Given the description of an element on the screen output the (x, y) to click on. 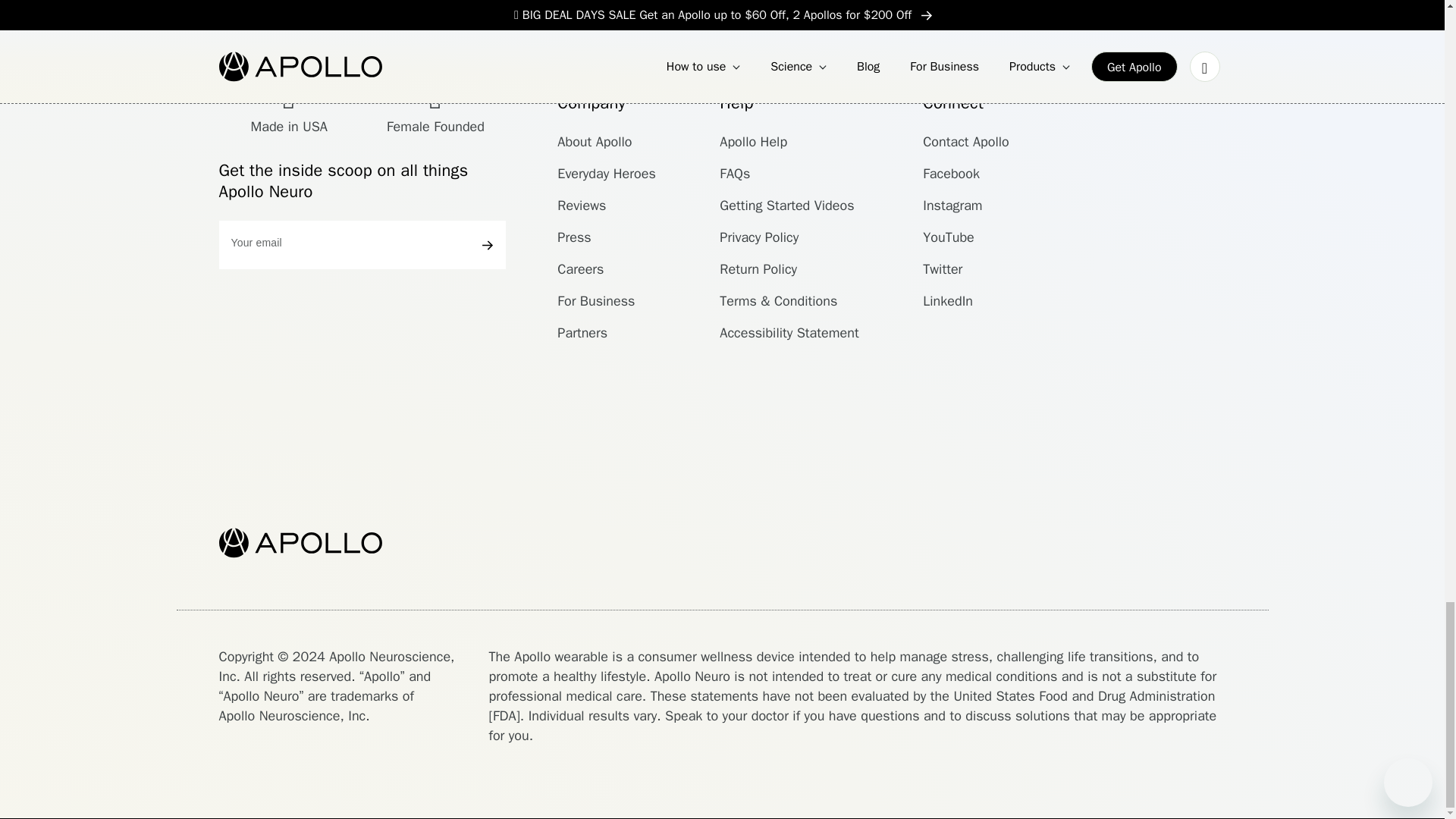
Right Arrow Icon. (487, 245)
